Given the description of an element on the screen output the (x, y) to click on. 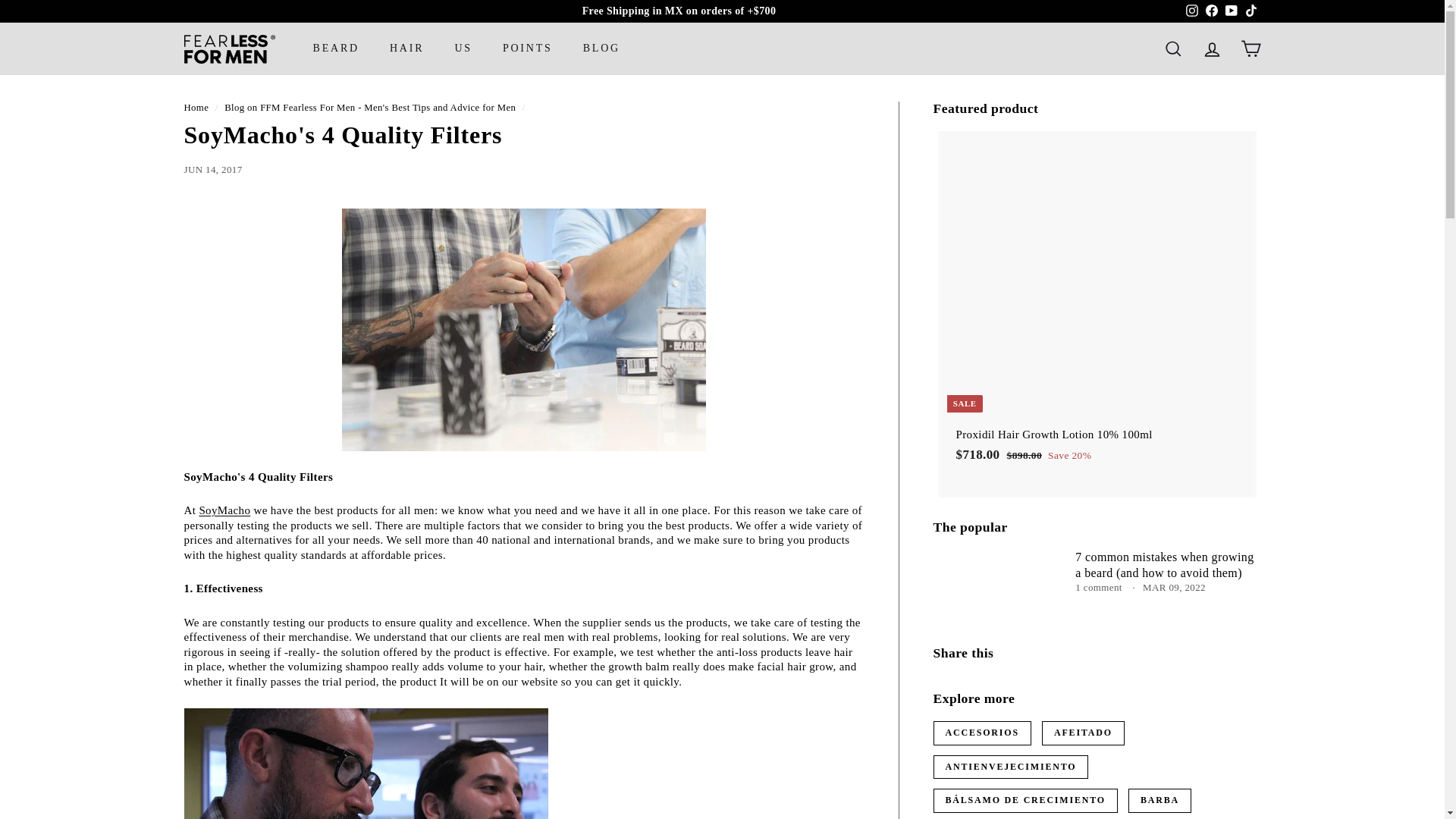
Facebook (1211, 10)
Fearless for Men on Instagram (1190, 10)
Instagram (1190, 10)
BLOG (600, 48)
YouTube (1230, 10)
US (463, 48)
POINTS (527, 48)
Fearless for Men on YouTube (1230, 10)
HAIR (406, 48)
Fearless for Men on Facebook (1211, 10)
